Given the description of an element on the screen output the (x, y) to click on. 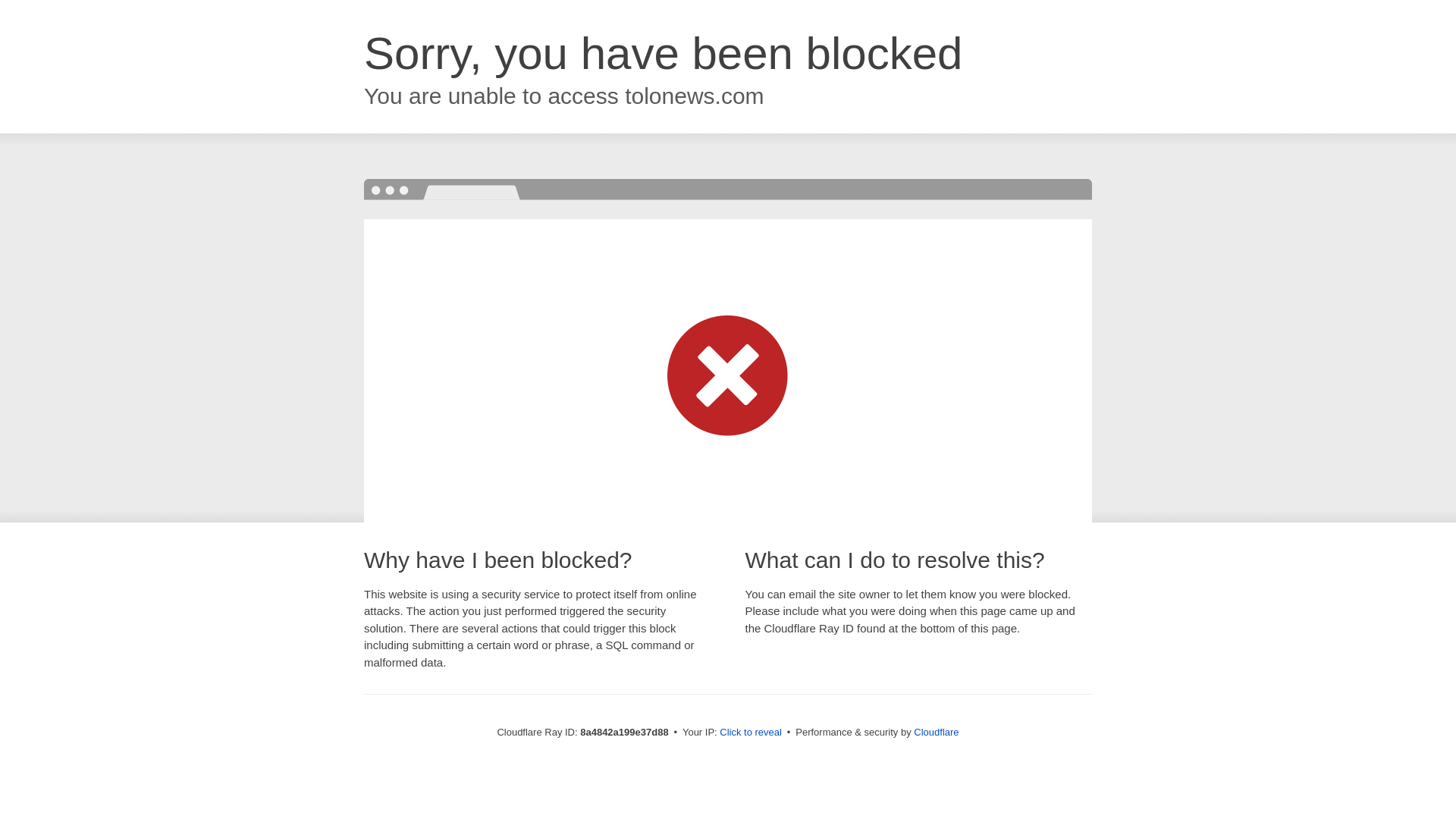
Click to reveal (750, 732)
Cloudflare (936, 731)
